Given the description of an element on the screen output the (x, y) to click on. 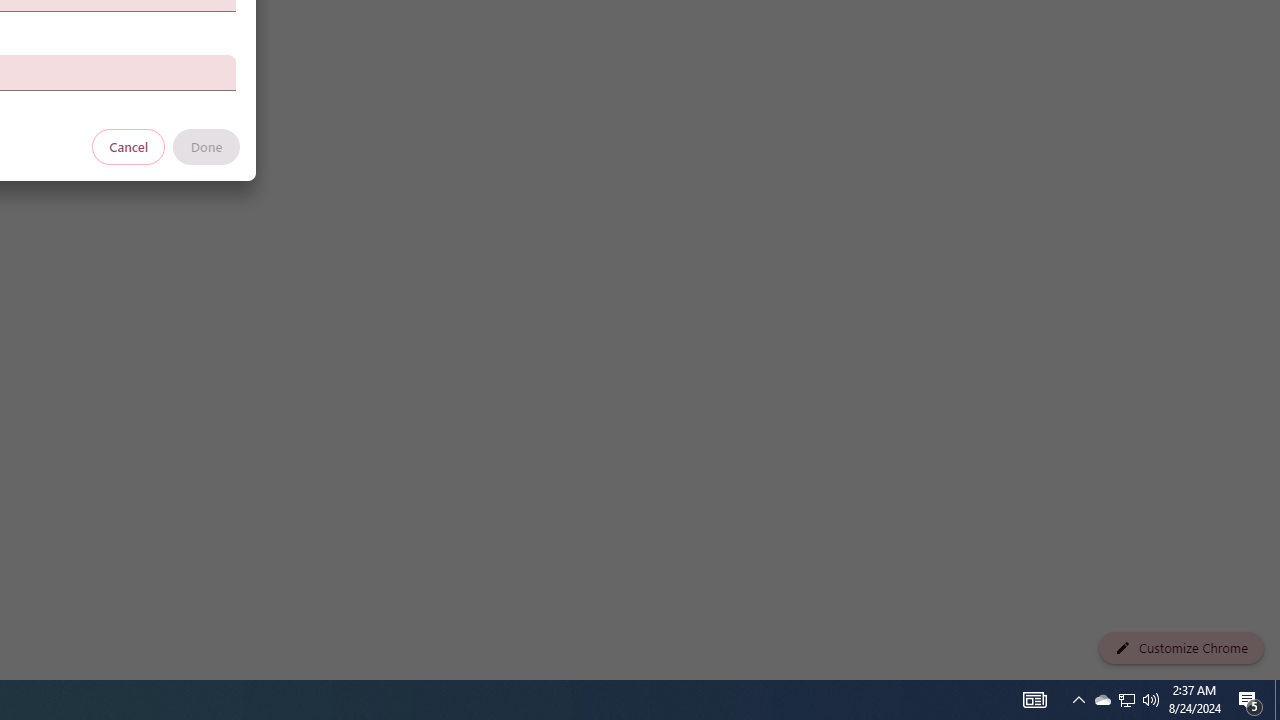
Cancel (129, 146)
Done (206, 146)
